Given the description of an element on the screen output the (x, y) to click on. 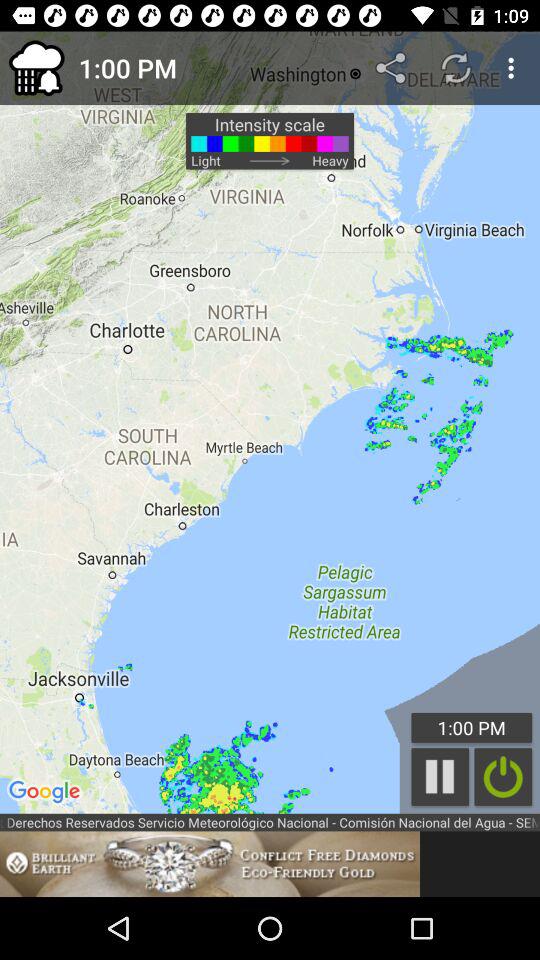
pause selection (440, 776)
